Given the description of an element on the screen output the (x, y) to click on. 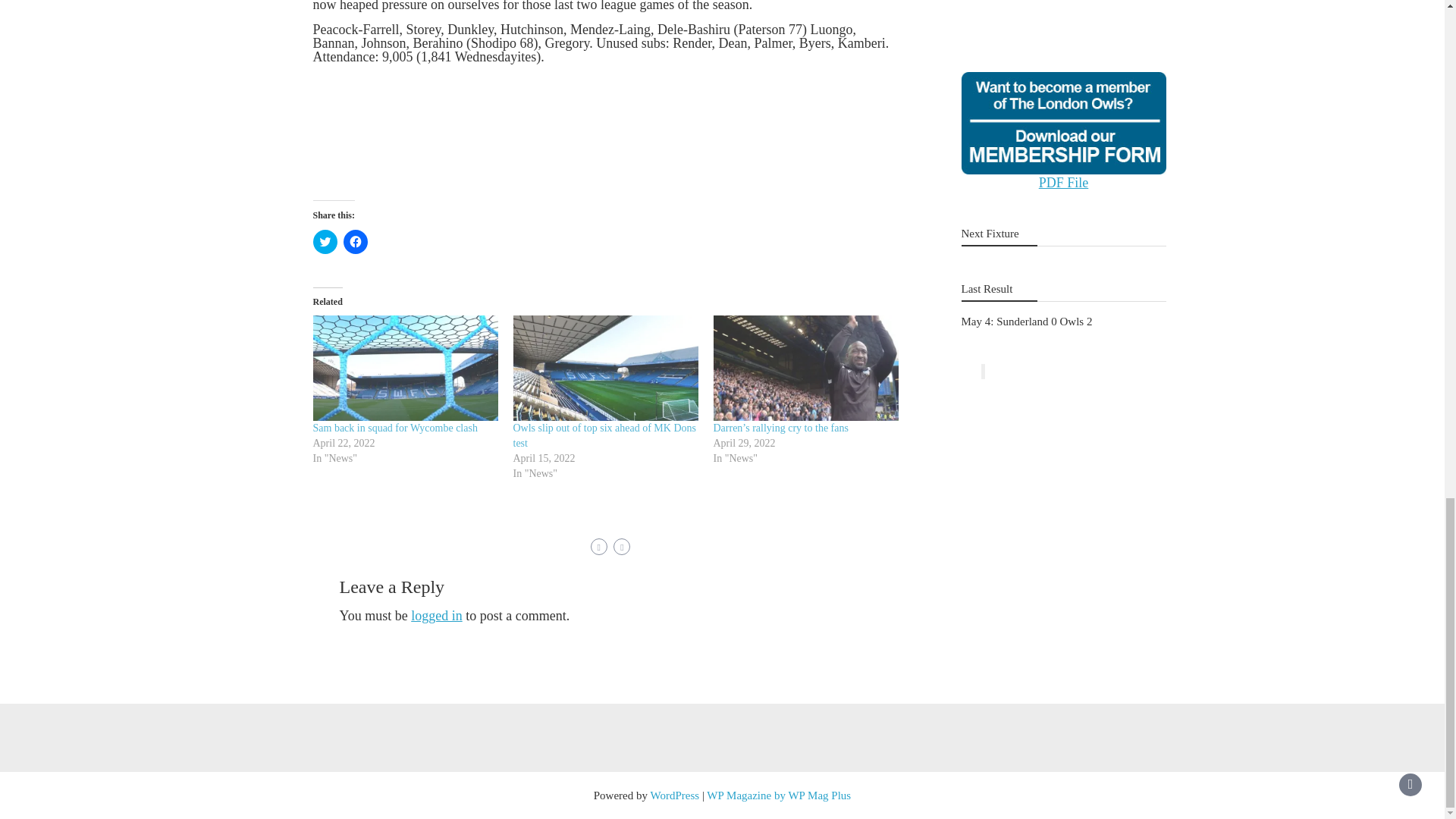
Sam back in squad for Wycombe clash (405, 367)
Owls slip out of top six ahead of MK Dons test (603, 435)
Click to share on Twitter (324, 241)
Click to share on Facebook (354, 241)
Sam back in squad for Wycombe clash (395, 428)
Owls slip out of top six ahead of MK Dons test (603, 435)
Sam back in squad for Wycombe clash (395, 428)
Owls slip out of top six ahead of MK Dons test (604, 367)
